Given the description of an element on the screen output the (x, y) to click on. 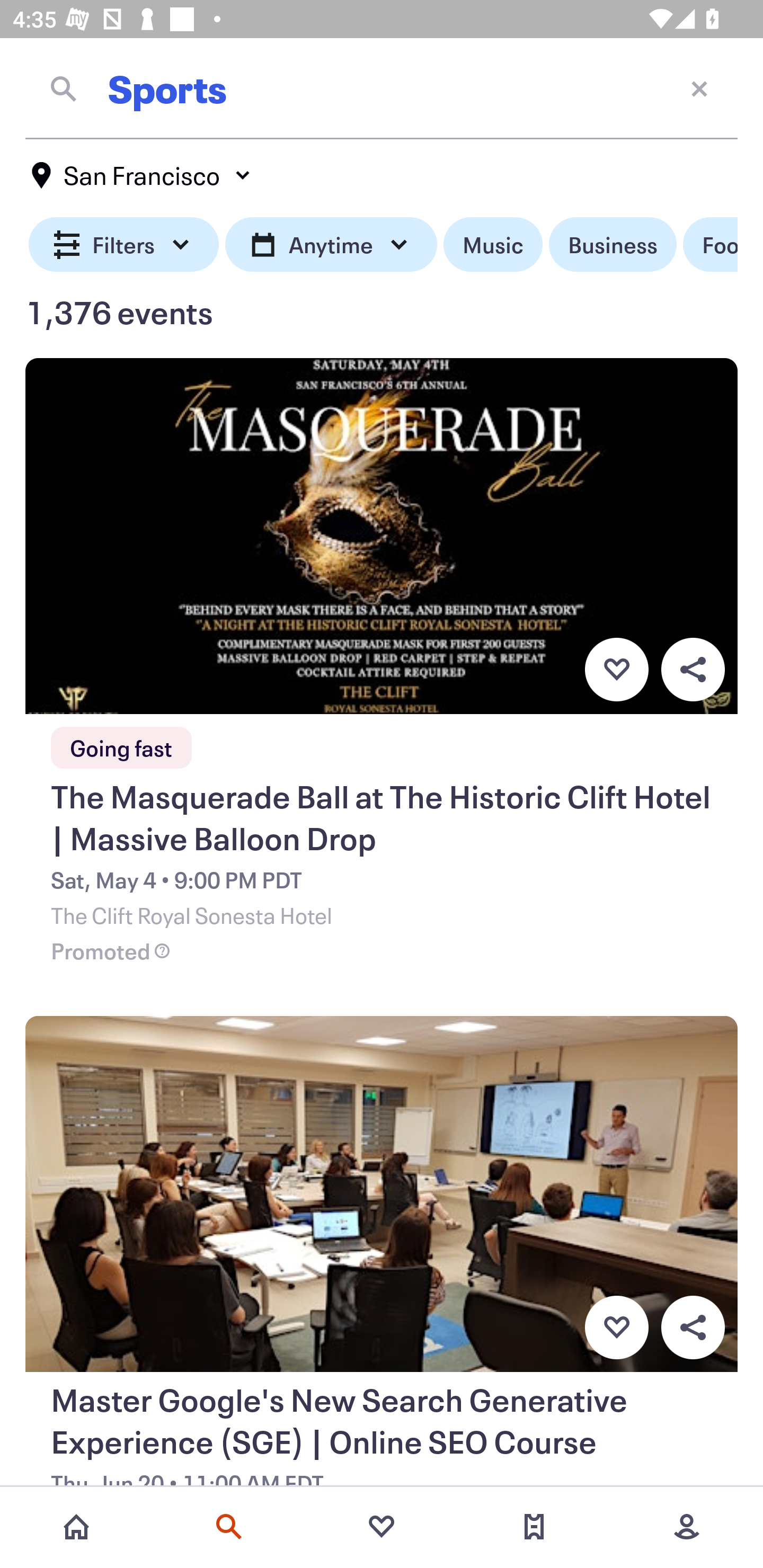
Sports Close current screen (381, 88)
Close current screen (699, 88)
San Francisco (141, 175)
Filters (123, 244)
Anytime (331, 244)
Music (492, 244)
Business (612, 244)
Favorite button (616, 669)
Overflow menu button (692, 669)
Favorite button (616, 1326)
Overflow menu button (692, 1326)
Home (76, 1526)
Search events (228, 1526)
Favorites (381, 1526)
Tickets (533, 1526)
More (686, 1526)
